Given the description of an element on the screen output the (x, y) to click on. 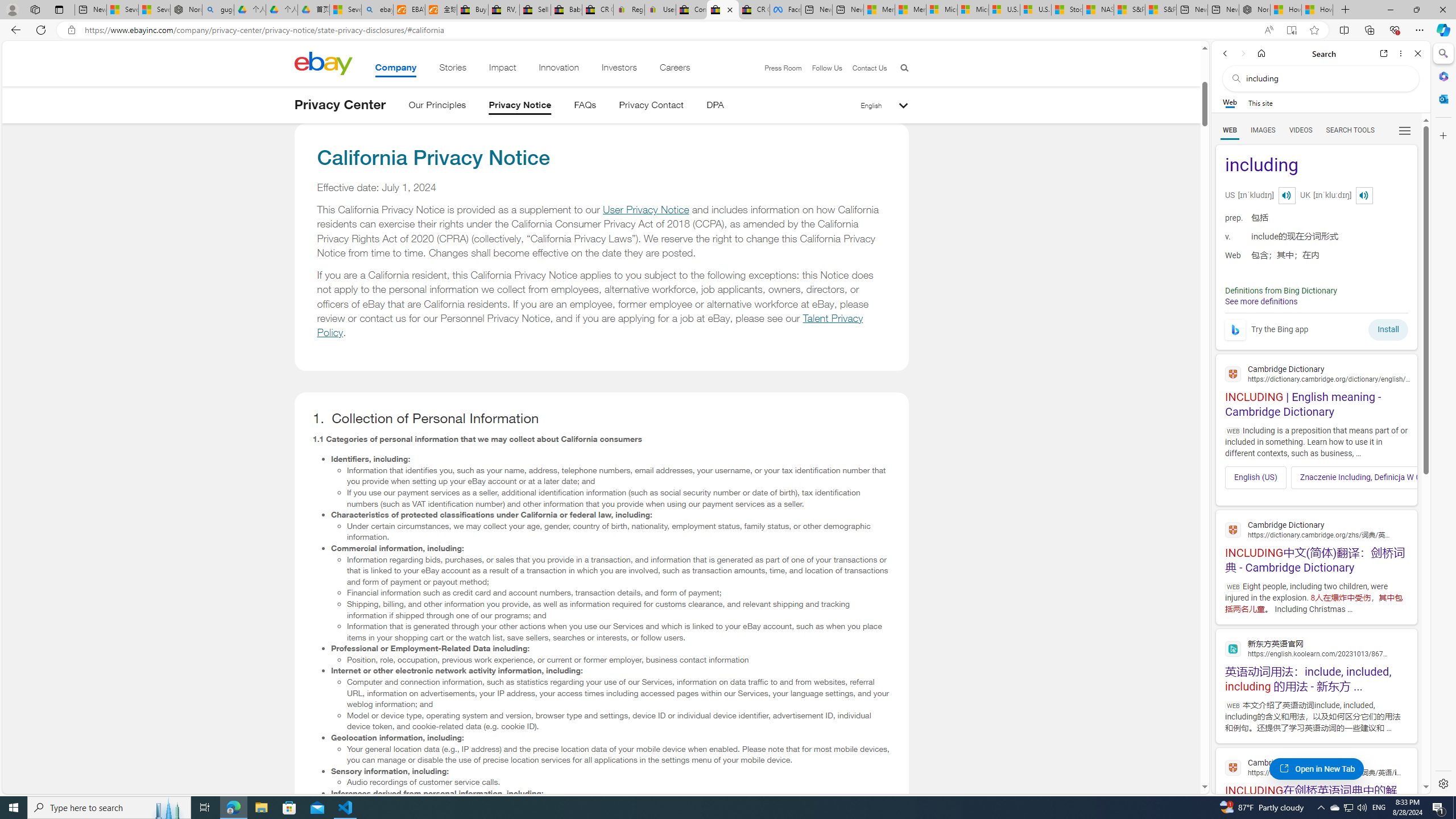
DPA (714, 107)
Web scope (1230, 102)
INCLUDING | English meaning - Cambridge Dictionary (1315, 389)
User Privacy Notice (645, 209)
